Given the description of an element on the screen output the (x, y) to click on. 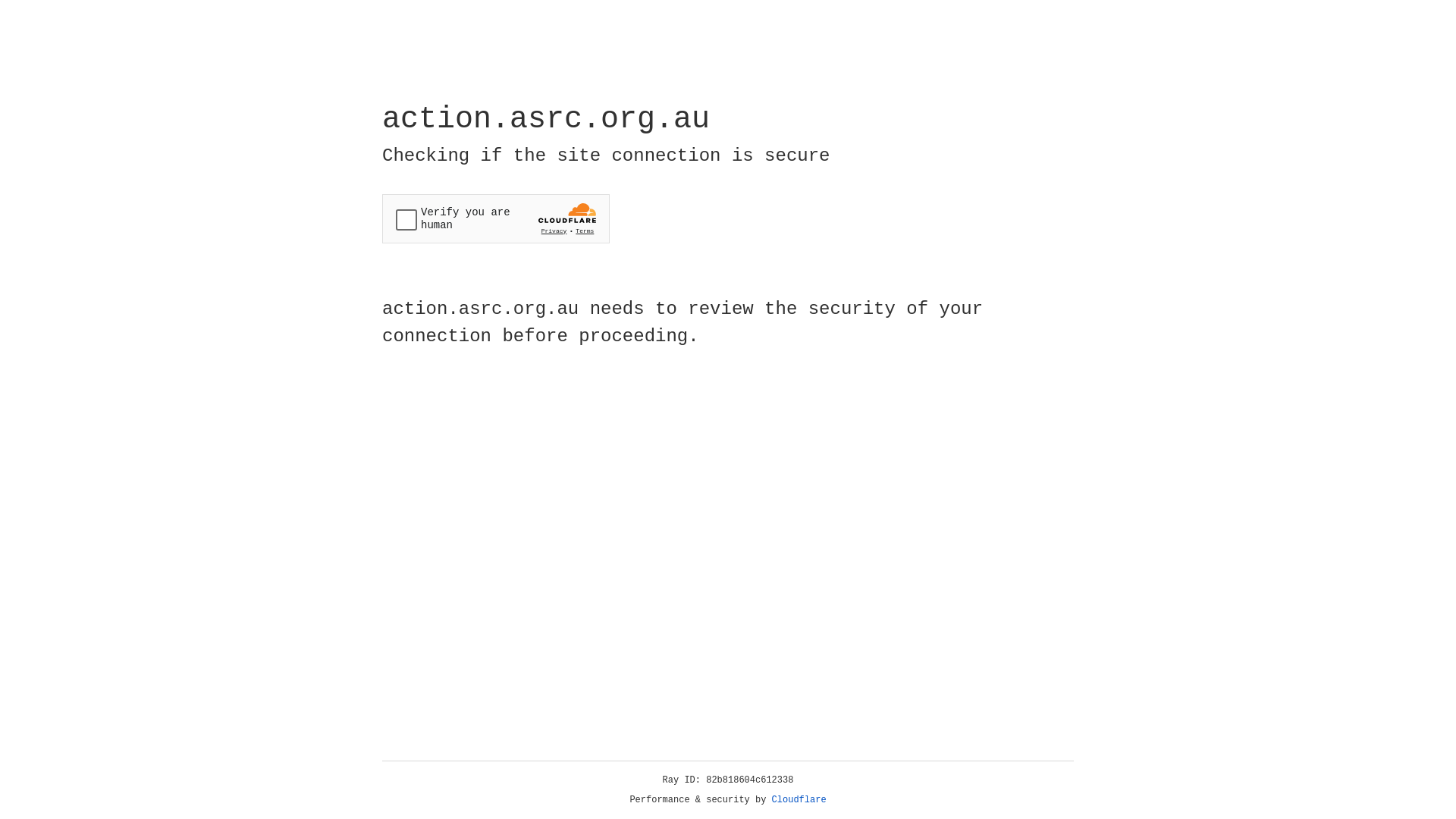
Cloudflare Element type: text (798, 799)
Widget containing a Cloudflare security challenge Element type: hover (495, 218)
